Given the description of an element on the screen output the (x, y) to click on. 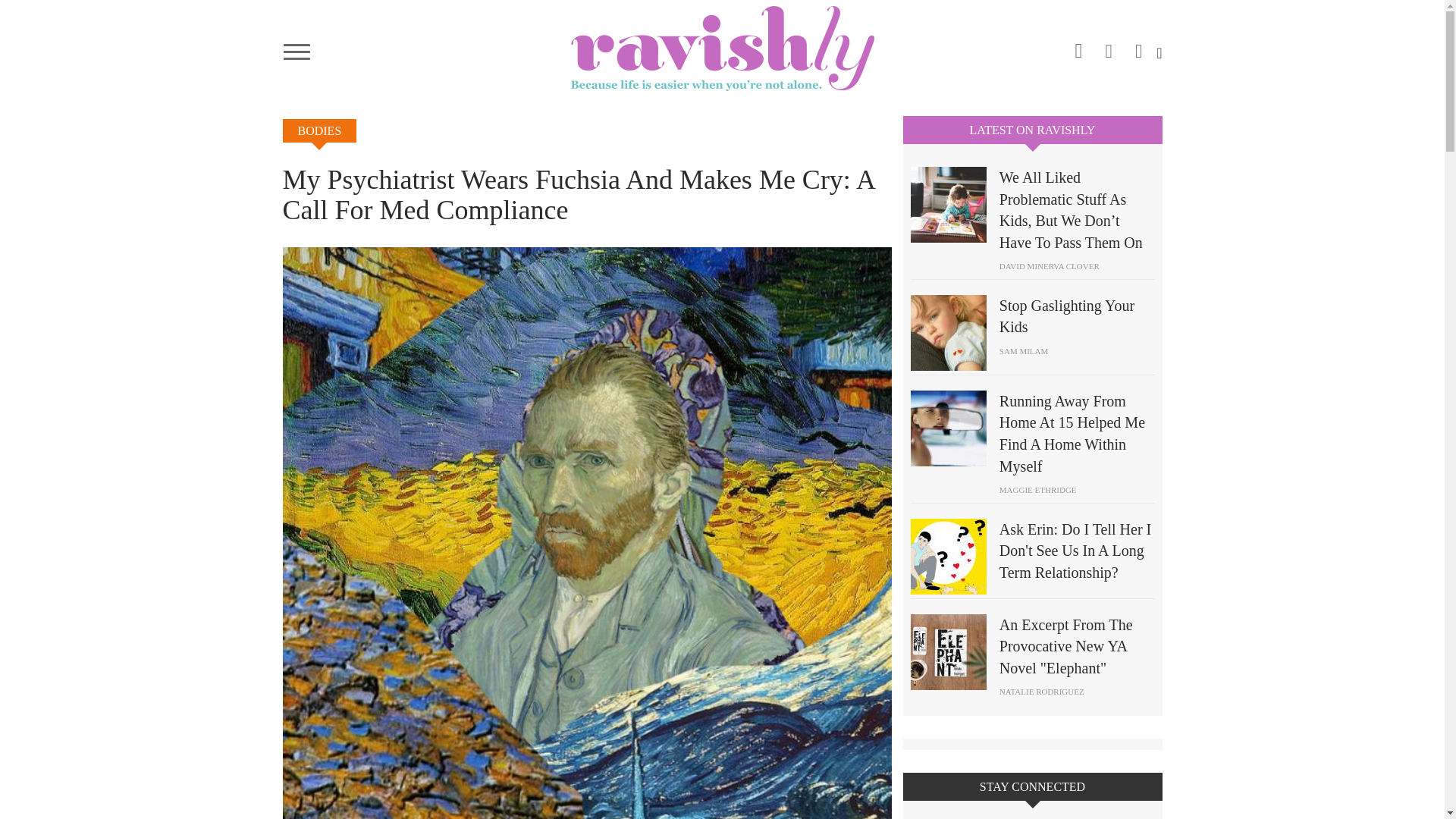
BODIES (319, 130)
facebook (1108, 46)
Home (721, 47)
instagram (1077, 48)
twitter (1138, 46)
